Given the description of an element on the screen output the (x, y) to click on. 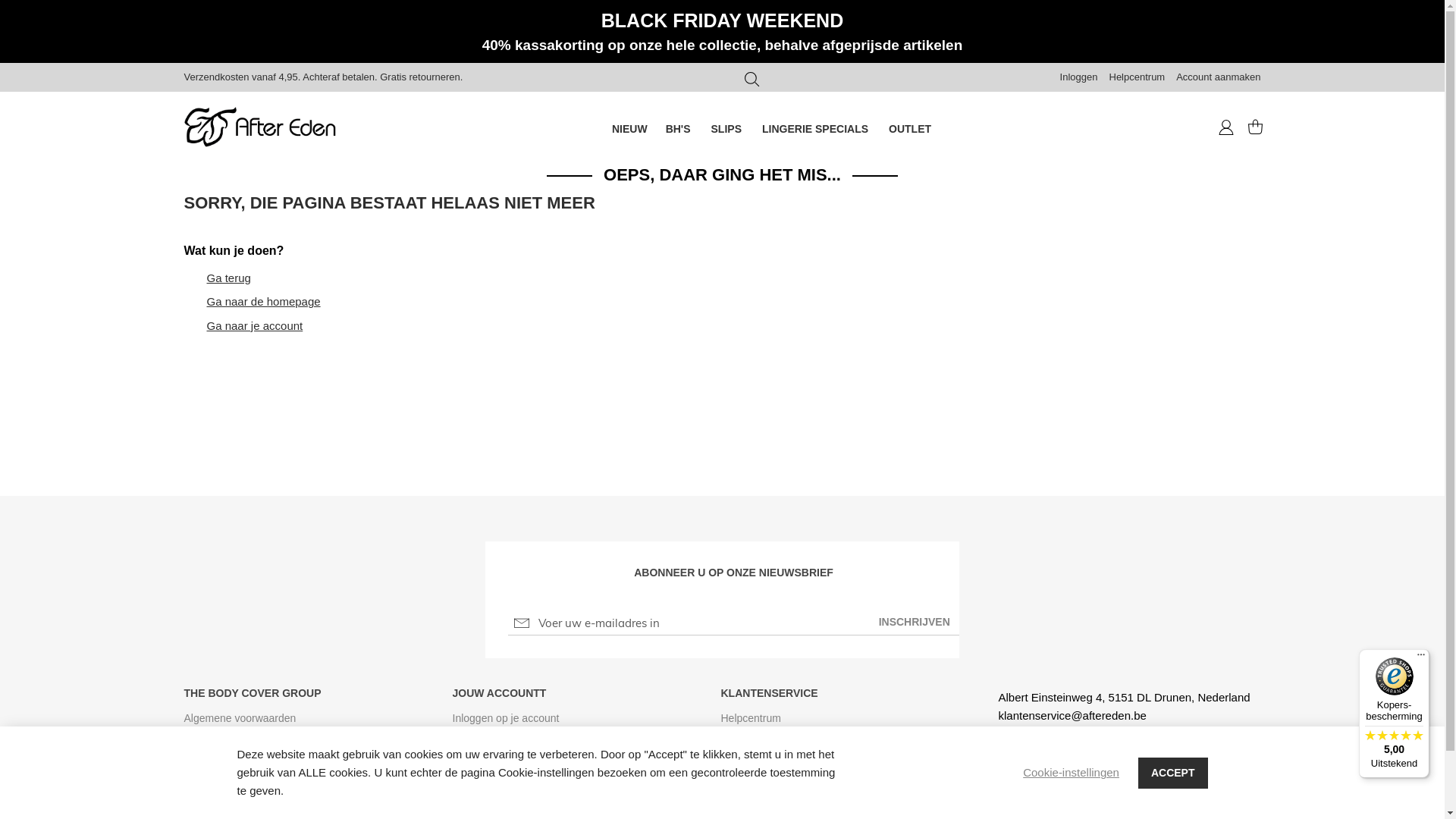
SLIPS Element type: text (727, 128)
Over verzending Element type: text (759, 781)
Ga naar de homepage Element type: text (263, 300)
BH'S Element type: text (679, 128)
Body Cover Points Element type: text (495, 781)
After Eden Element type: hover (259, 128)
Ga terug Element type: text (228, 277)
Algemene voorwaarden Element type: text (239, 717)
Helpcentrum Element type: text (1136, 76)
Zoek Element type: text (751, 79)
LINGERIE SPECIALS Element type: text (816, 128)
Hoe bepaal ik mijn maat? Element type: text (780, 760)
Inloggen Element type: text (1079, 76)
Je verlanglijst Element type: text (483, 760)
Order status Element type: text (480, 739)
Over privacy en cookies Element type: text (239, 739)
ACCEPT Element type: text (1173, 771)
Winkelwagen Element type: text (1247, 126)
Retourneren Element type: text (749, 802)
Inloggen op je account Element type: text (504, 717)
INSCHRIJVEN Element type: text (914, 622)
Tips voor het wassen Element type: text (770, 739)
OUTLET Element type: text (909, 128)
Helpcentrum Element type: text (750, 717)
NIEUW Element type: text (629, 128)
Cookie-instellingen Element type: text (1070, 772)
Ga naar je account Element type: text (254, 325)
Contact Element type: text (201, 760)
After Eden Element type: hover (259, 126)
Account aanmaken Element type: text (1218, 76)
Account Element type: hover (1225, 128)
